Given the description of an element on the screen output the (x, y) to click on. 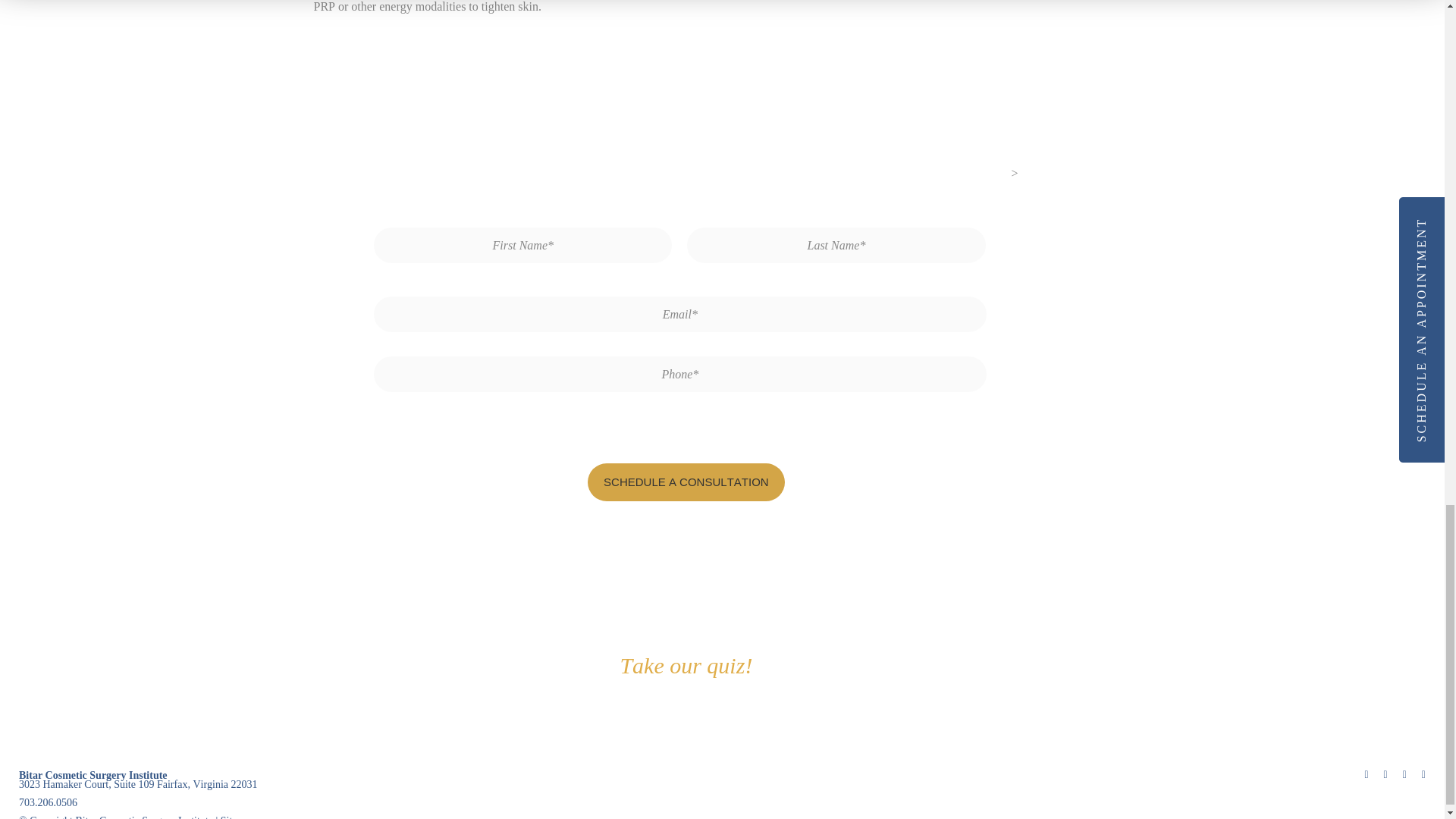
Schedule a Consultation (686, 482)
